Given the description of an element on the screen output the (x, y) to click on. 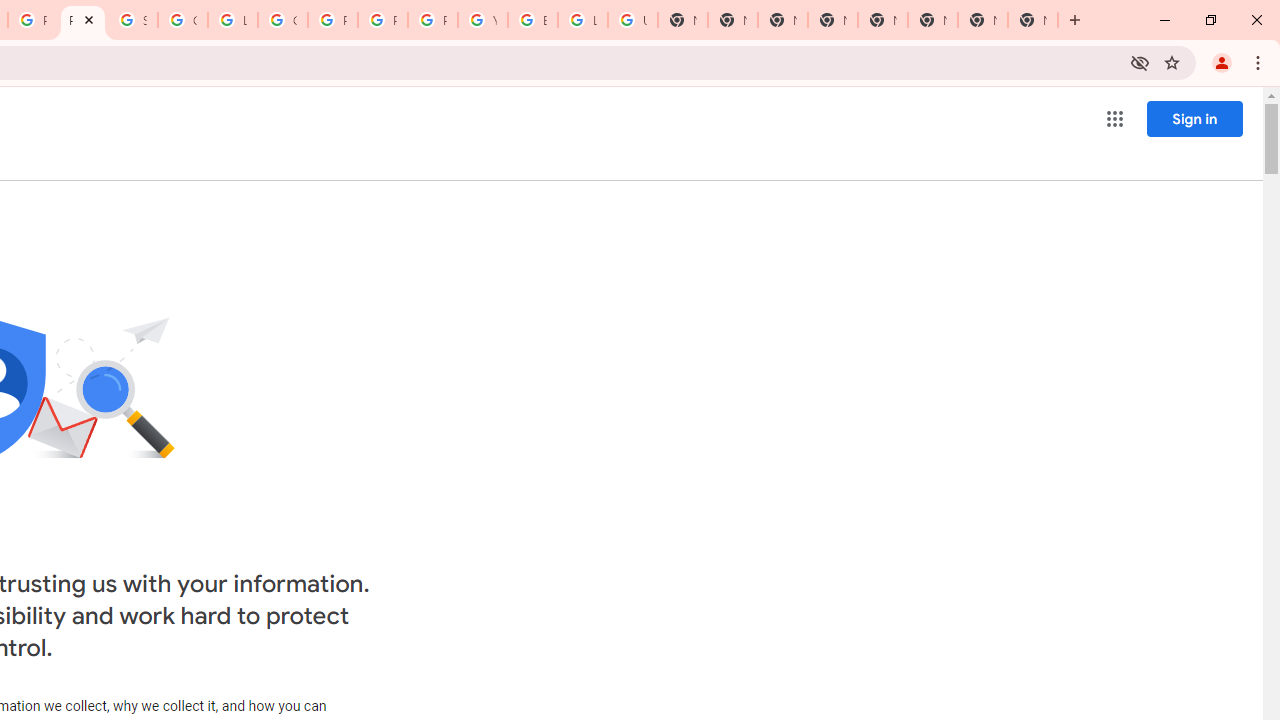
YouTube (483, 20)
New Tab (782, 20)
Sign in - Google Accounts (132, 20)
New Tab (1032, 20)
